Given the description of an element on the screen output the (x, y) to click on. 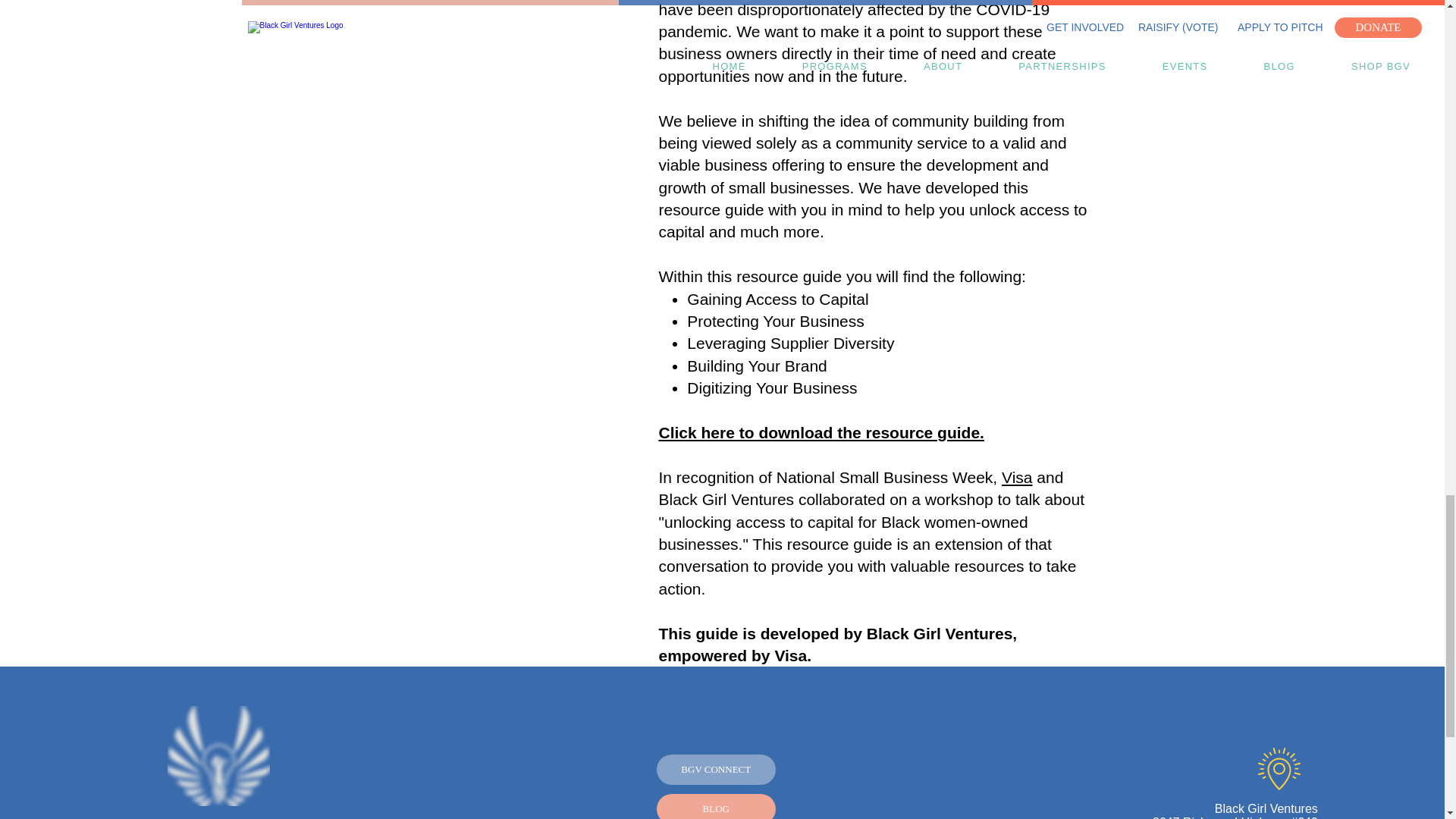
Visa (1016, 477)
BGVF Icon Black (218, 755)
Click here to download the resource guide. (821, 432)
BGV CONNECT (716, 769)
BLOG (716, 806)
